Given the description of an element on the screen output the (x, y) to click on. 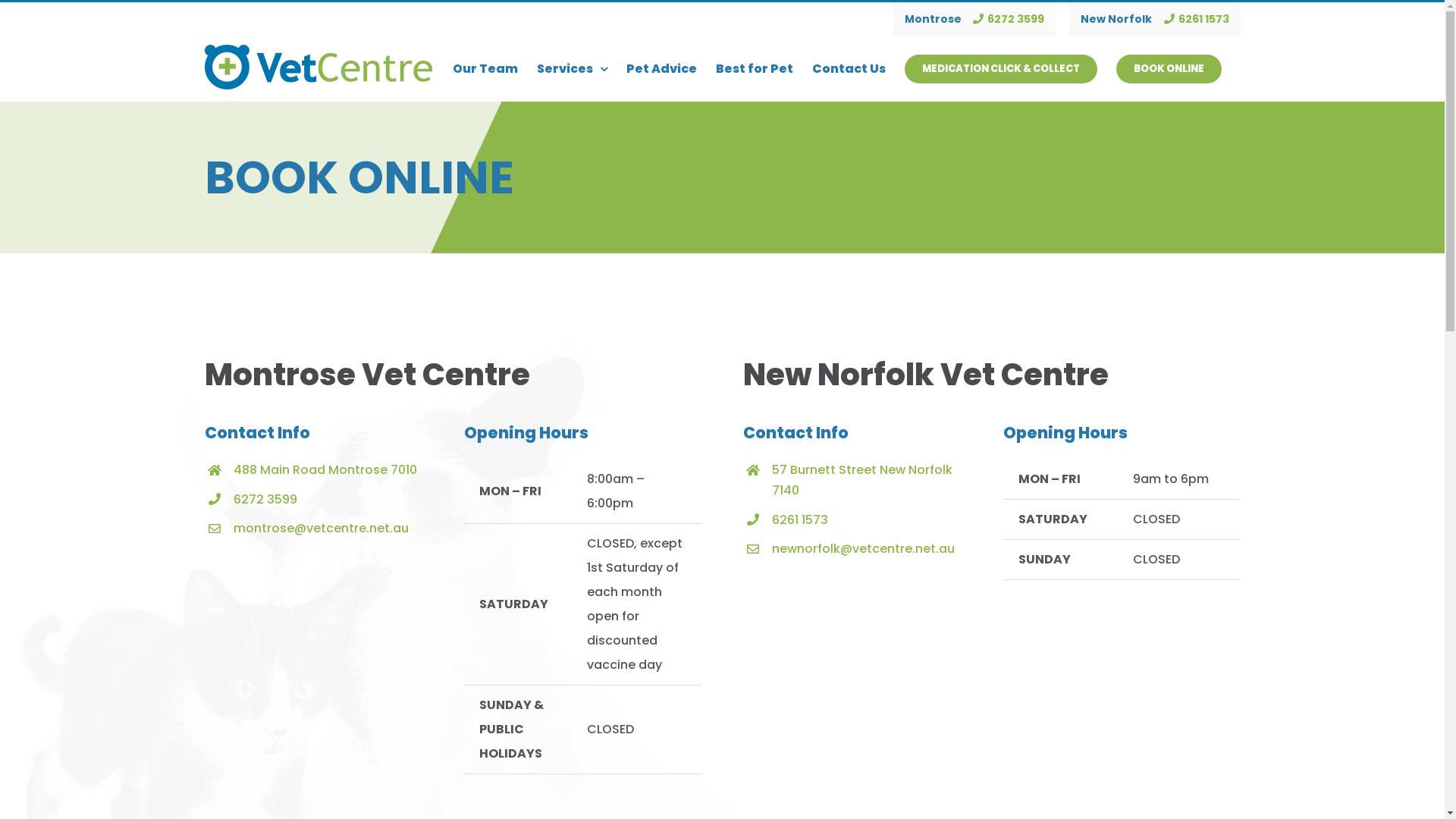
6261 1573 Element type: text (1195, 18)
Services Element type: text (571, 68)
montrose@vetcentre.net.au Element type: text (320, 527)
Pet Advice Element type: text (661, 68)
MEDICATION CLICK & COLLECT Element type: text (999, 68)
488 Main Road Montrose 7010 Element type: text (325, 469)
newnorfolk@vetcentre.net.au Element type: text (862, 548)
6272 3599 Element type: text (265, 499)
BOOK ONLINE Element type: text (1168, 68)
Best for Pet Element type: text (754, 68)
Contact Us Element type: text (847, 68)
6272 3599 Element type: text (1008, 18)
6261 1573 Element type: text (799, 519)
57 Burnett Street New Norfolk 7140 Element type: text (861, 479)
Our Team Element type: text (484, 68)
